Given the description of an element on the screen output the (x, y) to click on. 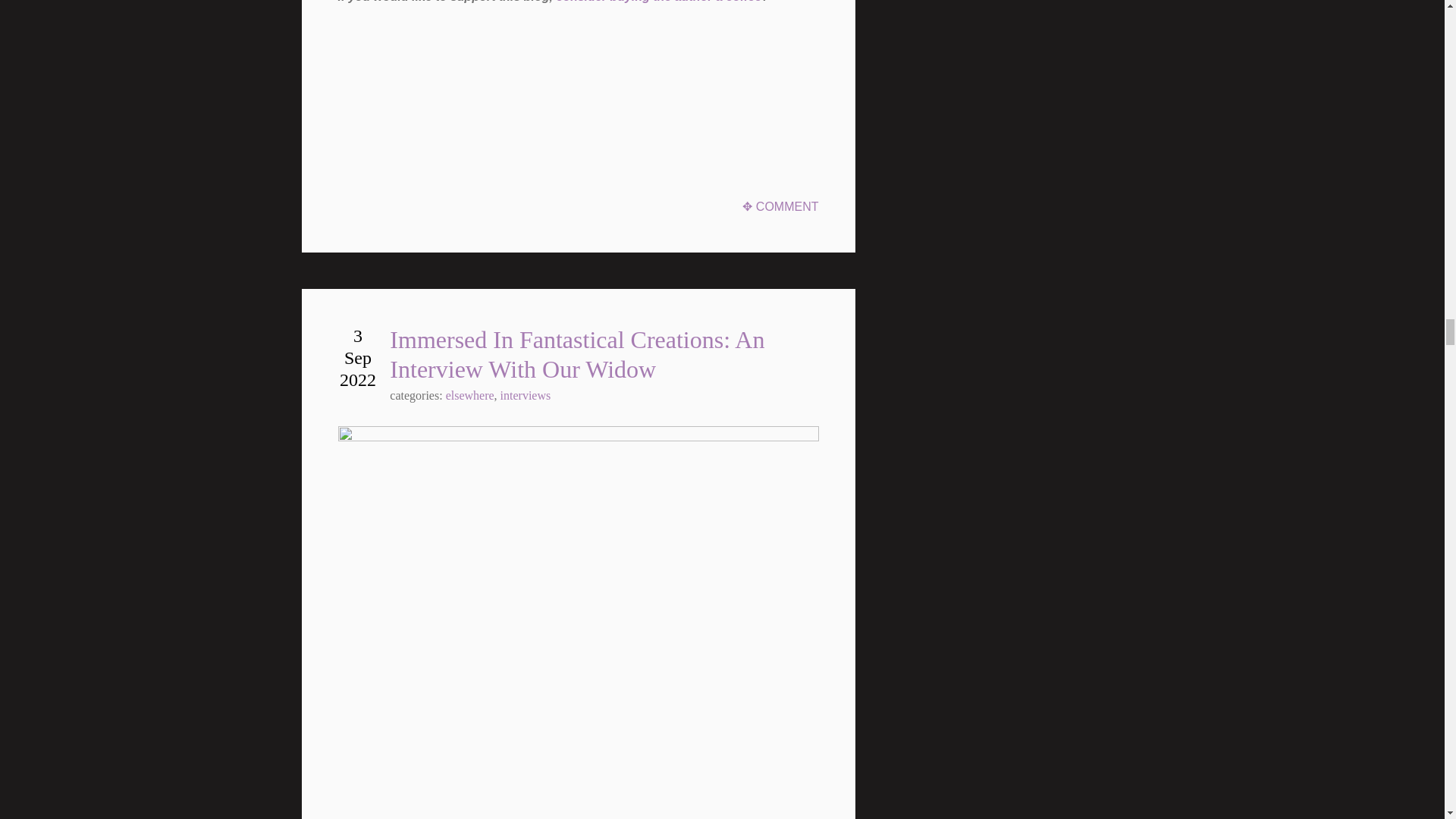
Patreon Widget (451, 74)
